Given the description of an element on the screen output the (x, y) to click on. 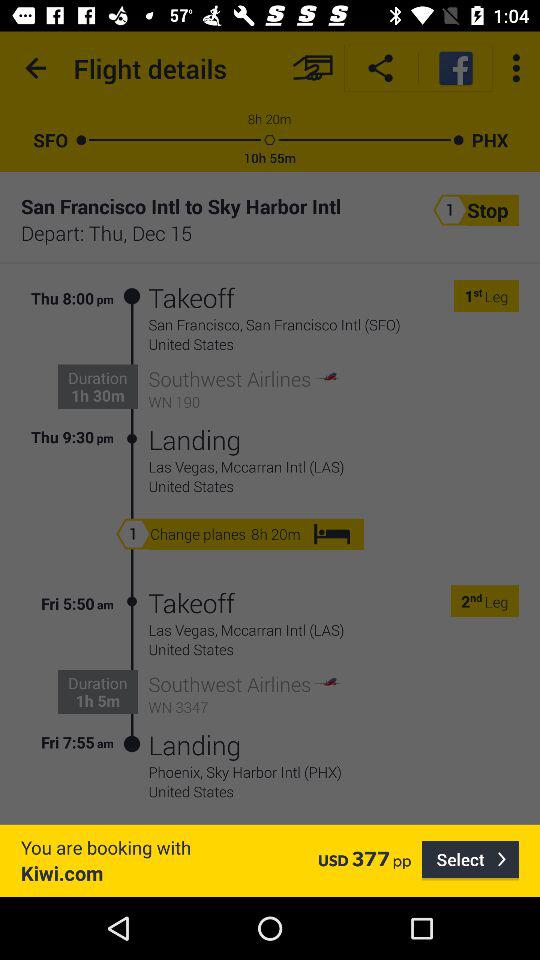
pay for this flight (312, 67)
